Given the description of an element on the screen output the (x, y) to click on. 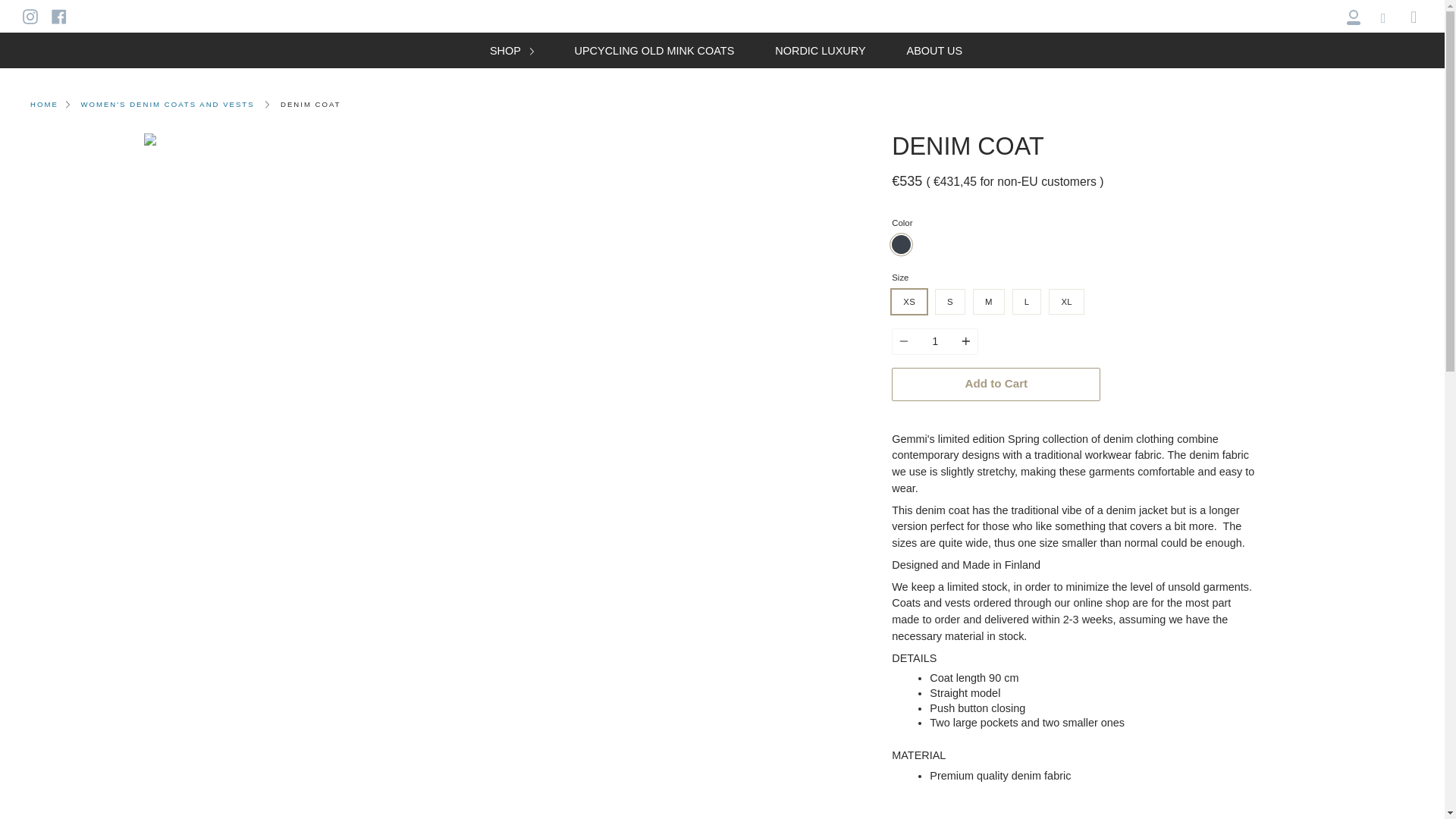
Gemmifinland on Instagram (30, 15)
Facebook (58, 15)
1 (934, 341)
NORDIC LUXURY (820, 50)
SHOP (511, 50)
UPCYCLING OLD MINK COATS (654, 50)
Gemmifinland on Facebook (58, 15)
ABOUT US (934, 50)
Instagram (30, 15)
